Given the description of an element on the screen output the (x, y) to click on. 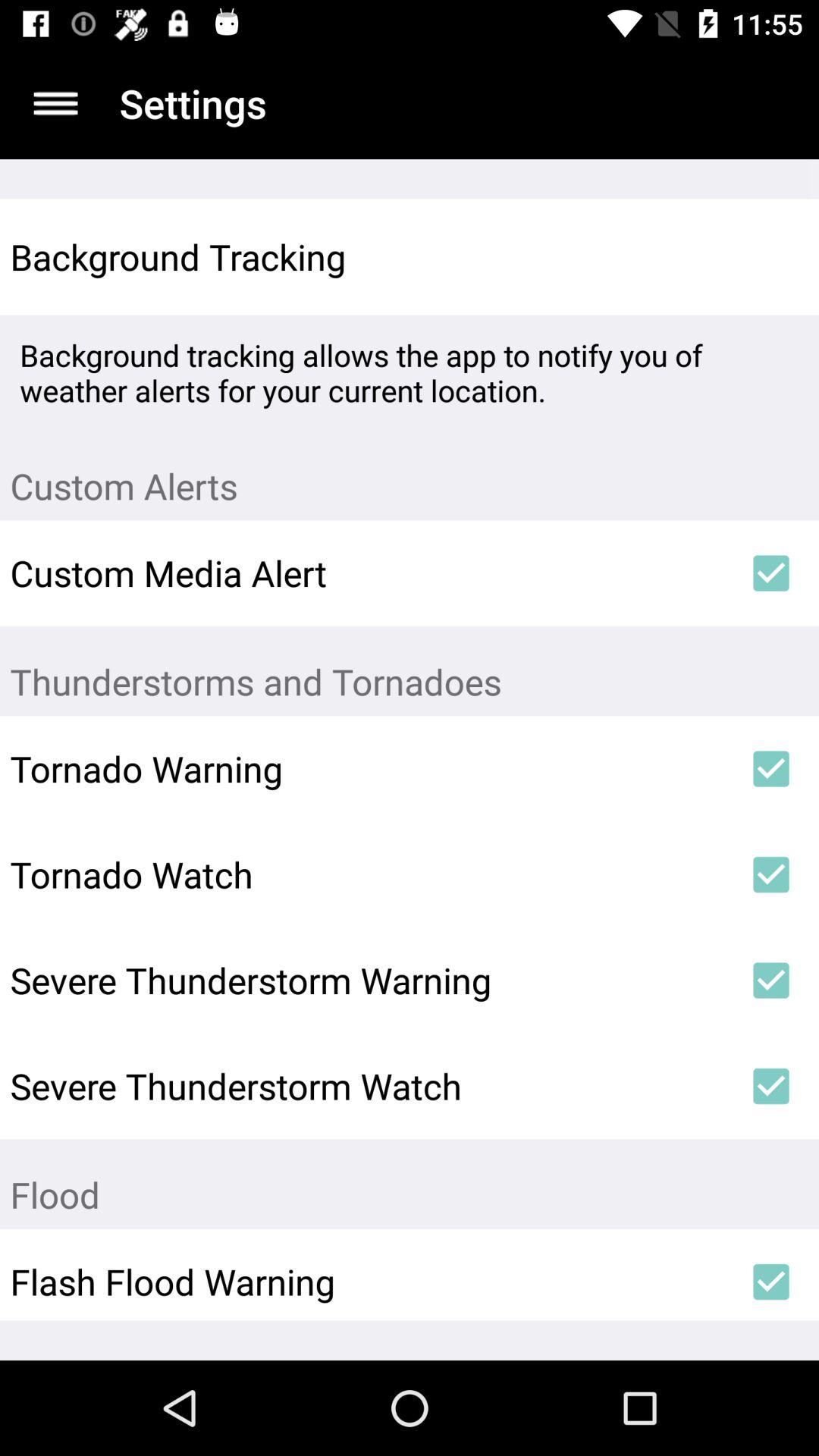
press icon next to the custom media alert item (771, 573)
